Given the description of an element on the screen output the (x, y) to click on. 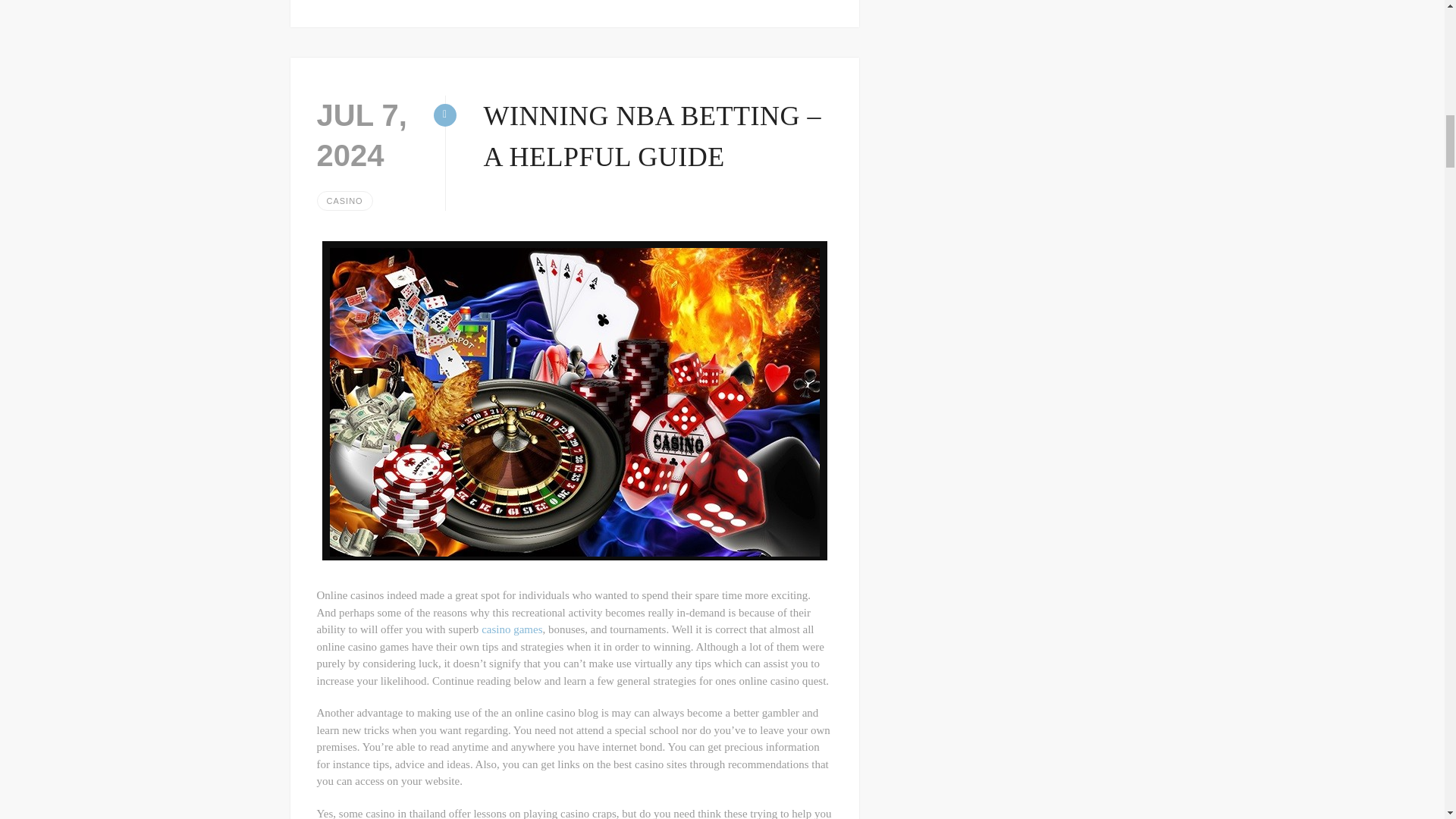
CASINO (344, 200)
casino games (511, 629)
